Given the description of an element on the screen output the (x, y) to click on. 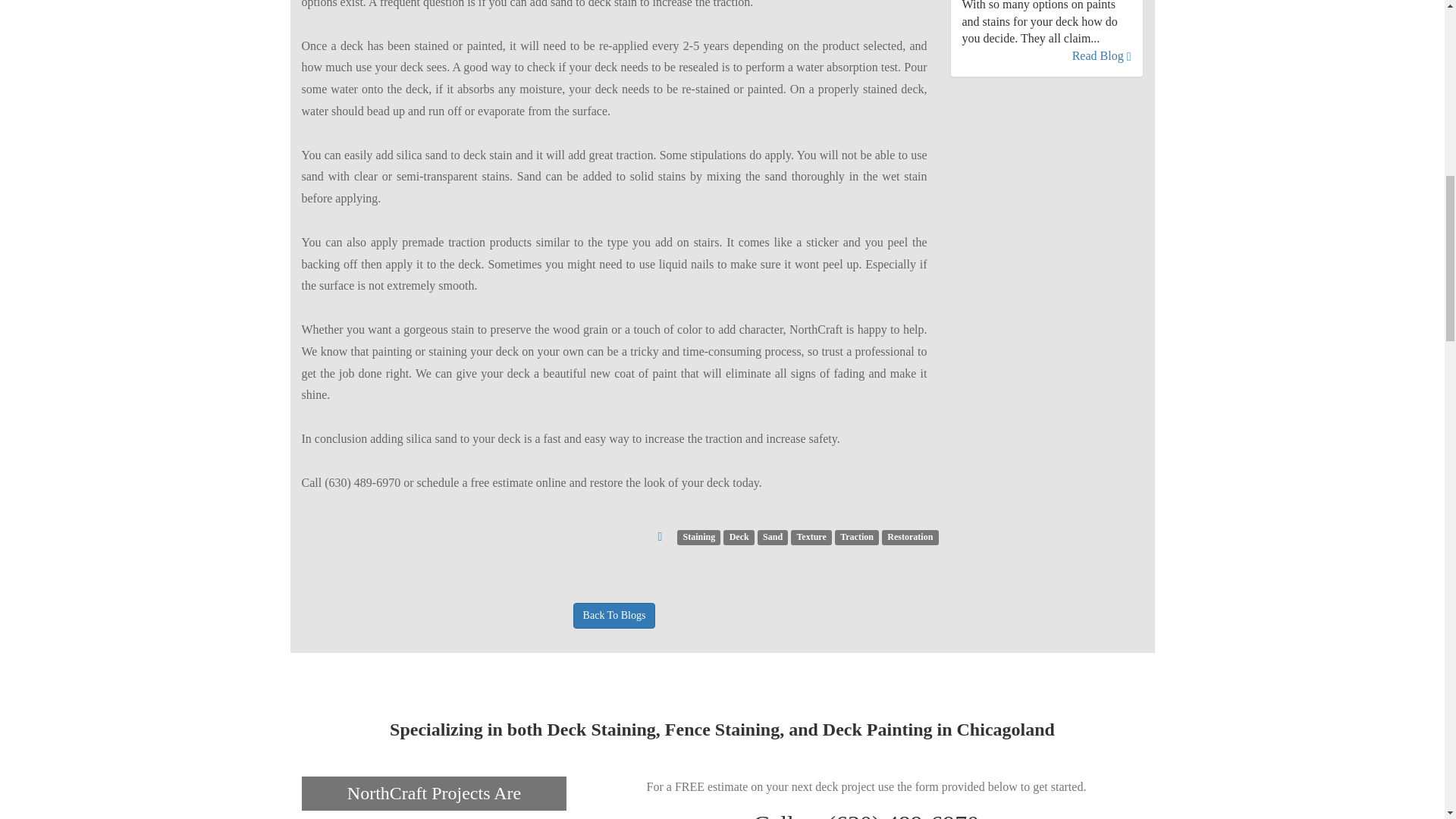
Back To Blogs (614, 615)
Texture (810, 535)
Staining (698, 535)
Traction (856, 535)
Restoration (909, 535)
Deck (738, 535)
Sand (772, 535)
Read Blog (1101, 55)
